Given the description of an element on the screen output the (x, y) to click on. 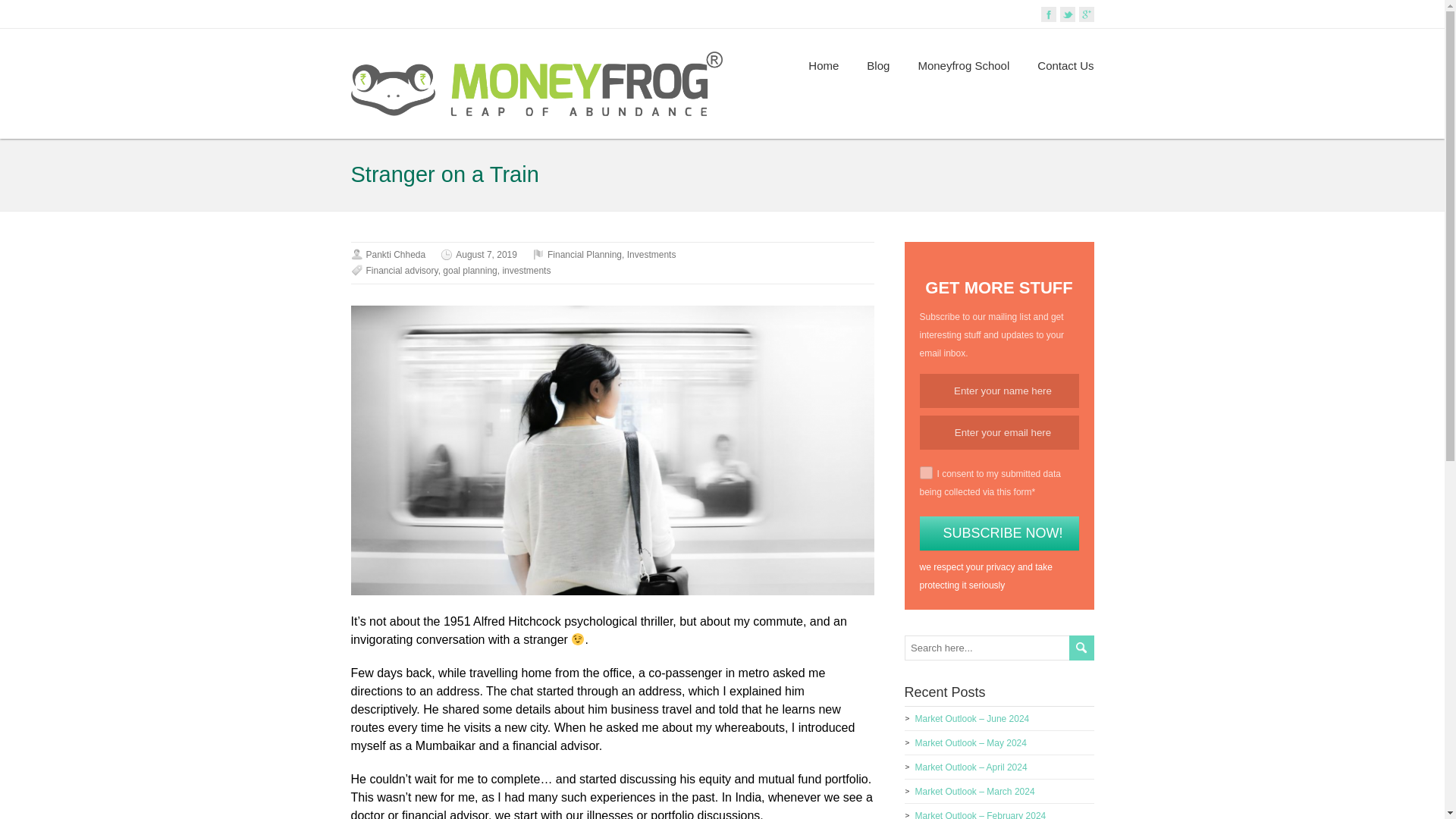
Subscribe Now! (998, 533)
on (924, 472)
goal planning (469, 270)
Enter your name here (998, 390)
Blog (877, 65)
Posts by Pankti Chheda (395, 254)
Moneyfrog School (963, 65)
Financial Planning-Moneyfrog.in (823, 65)
Subscribe Now! (998, 533)
Investments (652, 254)
Blog- Moneyfrog.in (877, 65)
Enter your email here (998, 432)
investments (526, 270)
Pankti Chheda (395, 254)
Financial Planning (584, 254)
